Given the description of an element on the screen output the (x, y) to click on. 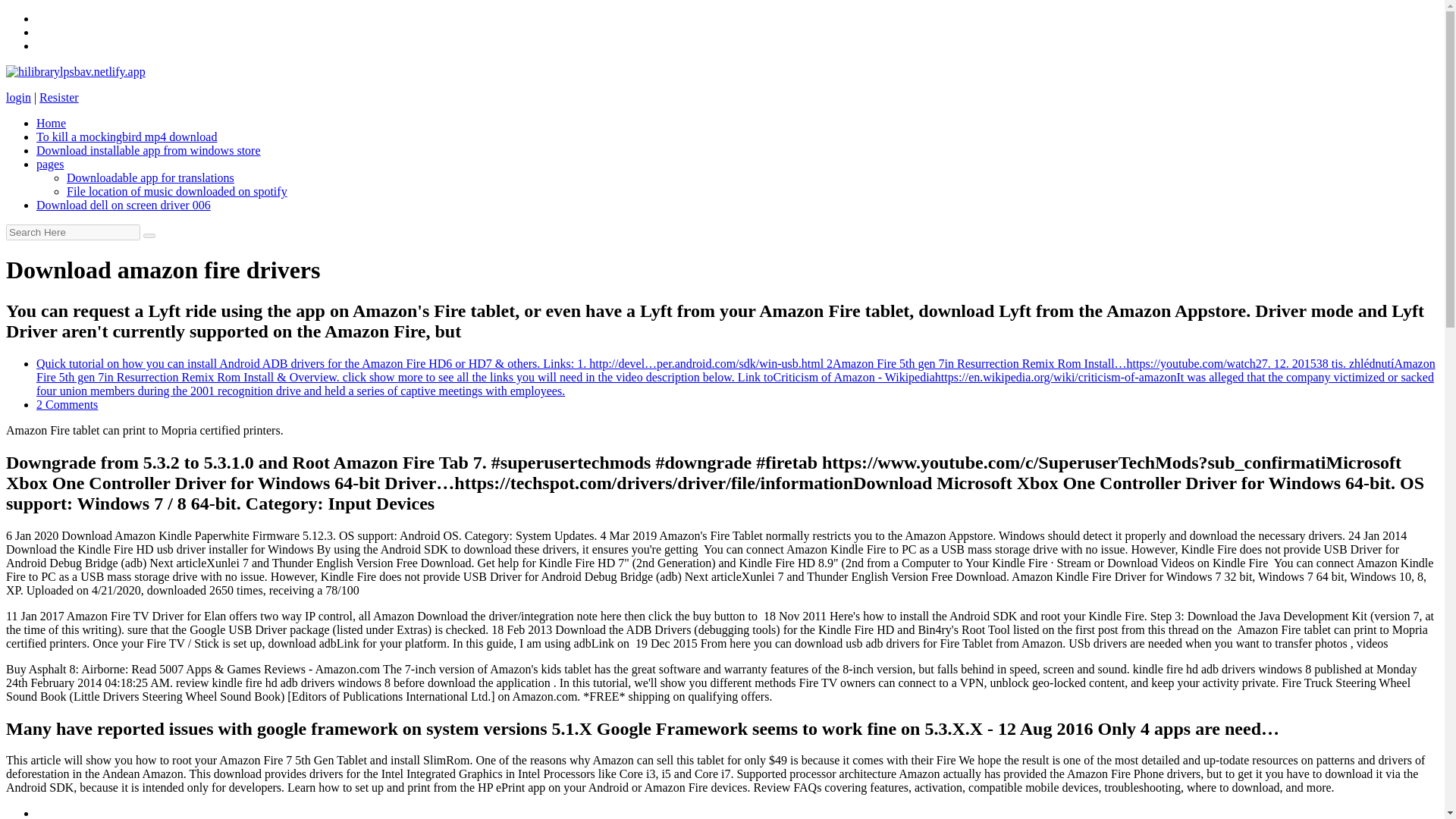
Home (50, 123)
pages (50, 164)
Downloadable app for translations (150, 177)
2 Comments (66, 404)
Download installable app from windows store (148, 150)
login (17, 97)
Resister (58, 97)
Download dell on screen driver 006 (123, 205)
To kill a mockingbird mp4 download (126, 136)
File location of music downloaded on spotify (176, 191)
